Given the description of an element on the screen output the (x, y) to click on. 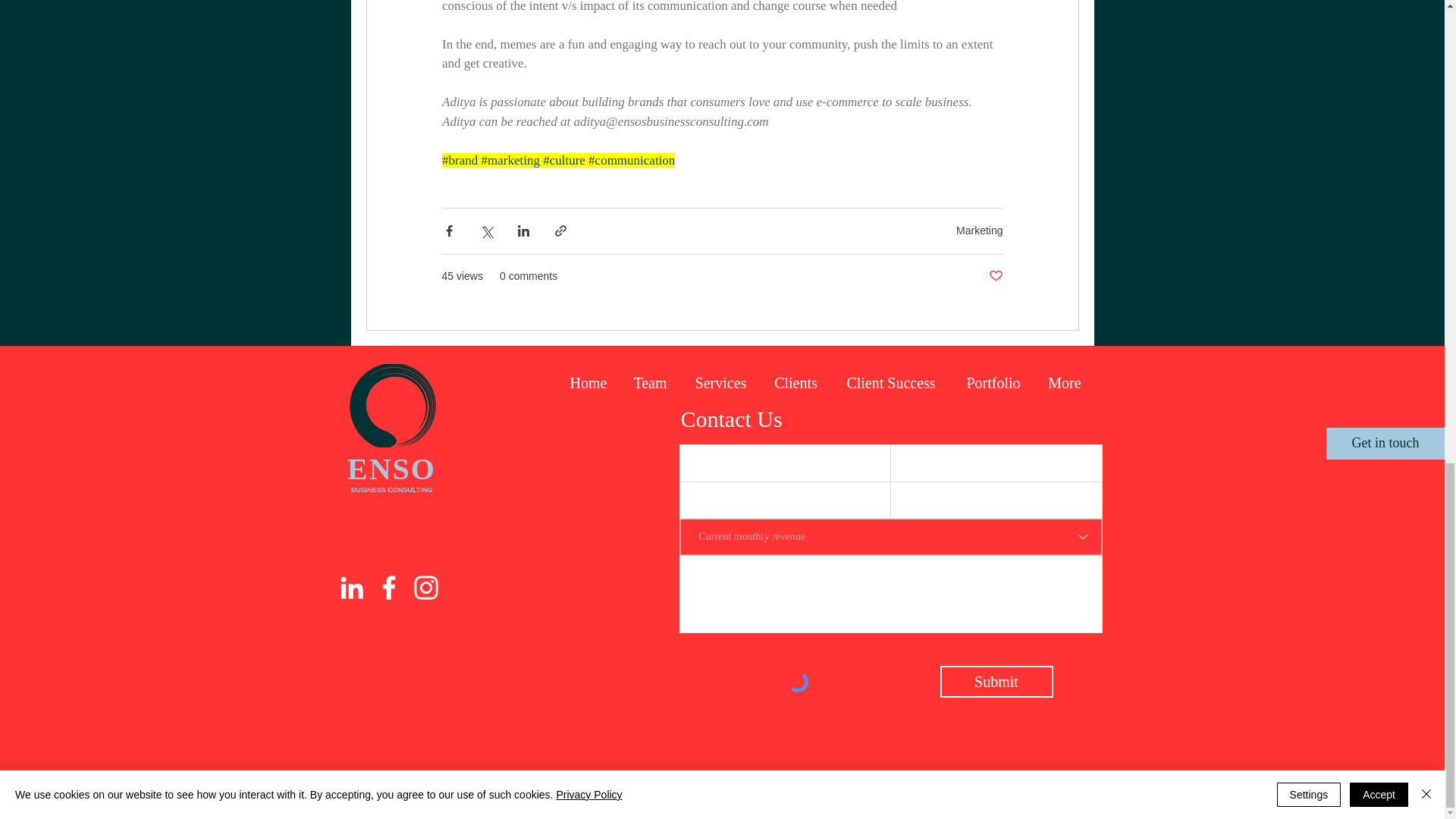
Marketing (979, 230)
BUSINESS CONSULTING (391, 489)
Post not marked as liked (995, 276)
ENSO (391, 468)
